Given the description of an element on the screen output the (x, y) to click on. 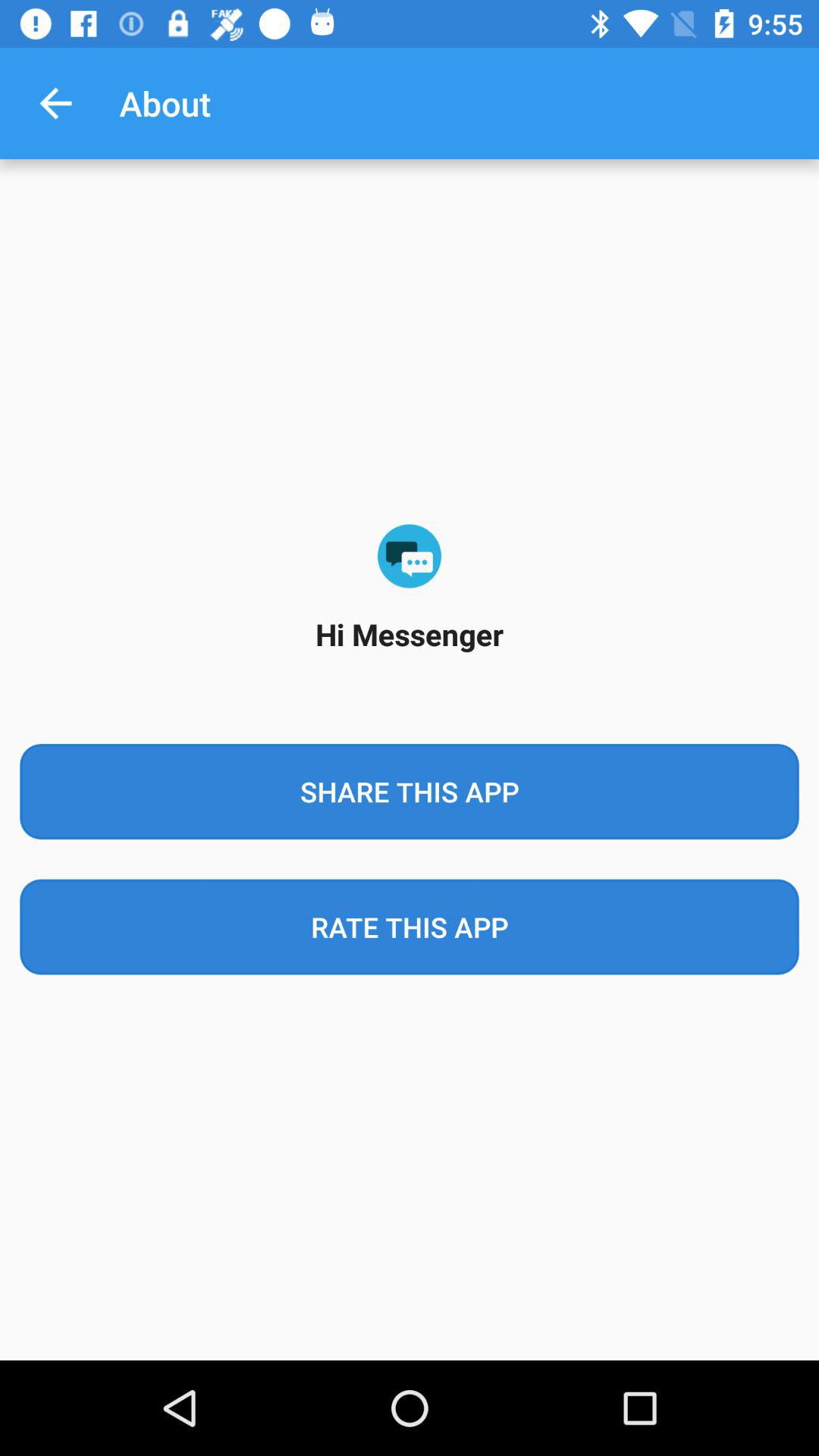
turn on item above share this app item (55, 103)
